Given the description of an element on the screen output the (x, y) to click on. 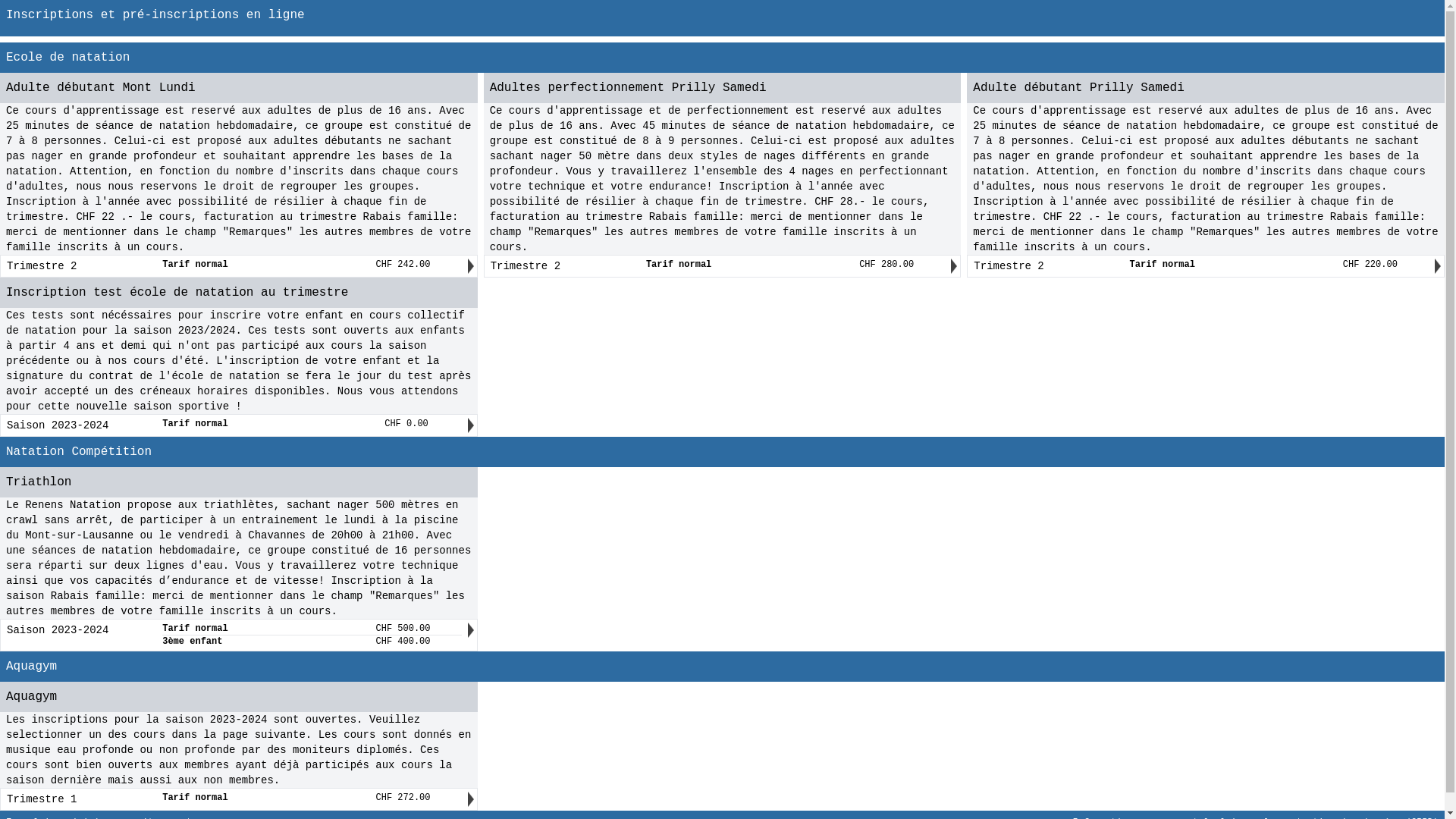
Saison 2023-2024
Tarif normal CHF 0.00 Element type: text (233, 425)
Trimestre 2
Tarif normal CHF 220.00 Element type: text (1200, 265)
Trimestre 2
Tarif normal CHF 280.00 Element type: text (717, 265)
Trimestre 1
Tarif normal CHF 272.00 Element type: text (233, 798)
Trimestre 2
Tarif normal CHF 242.00 Element type: text (233, 265)
